Given the description of an element on the screen output the (x, y) to click on. 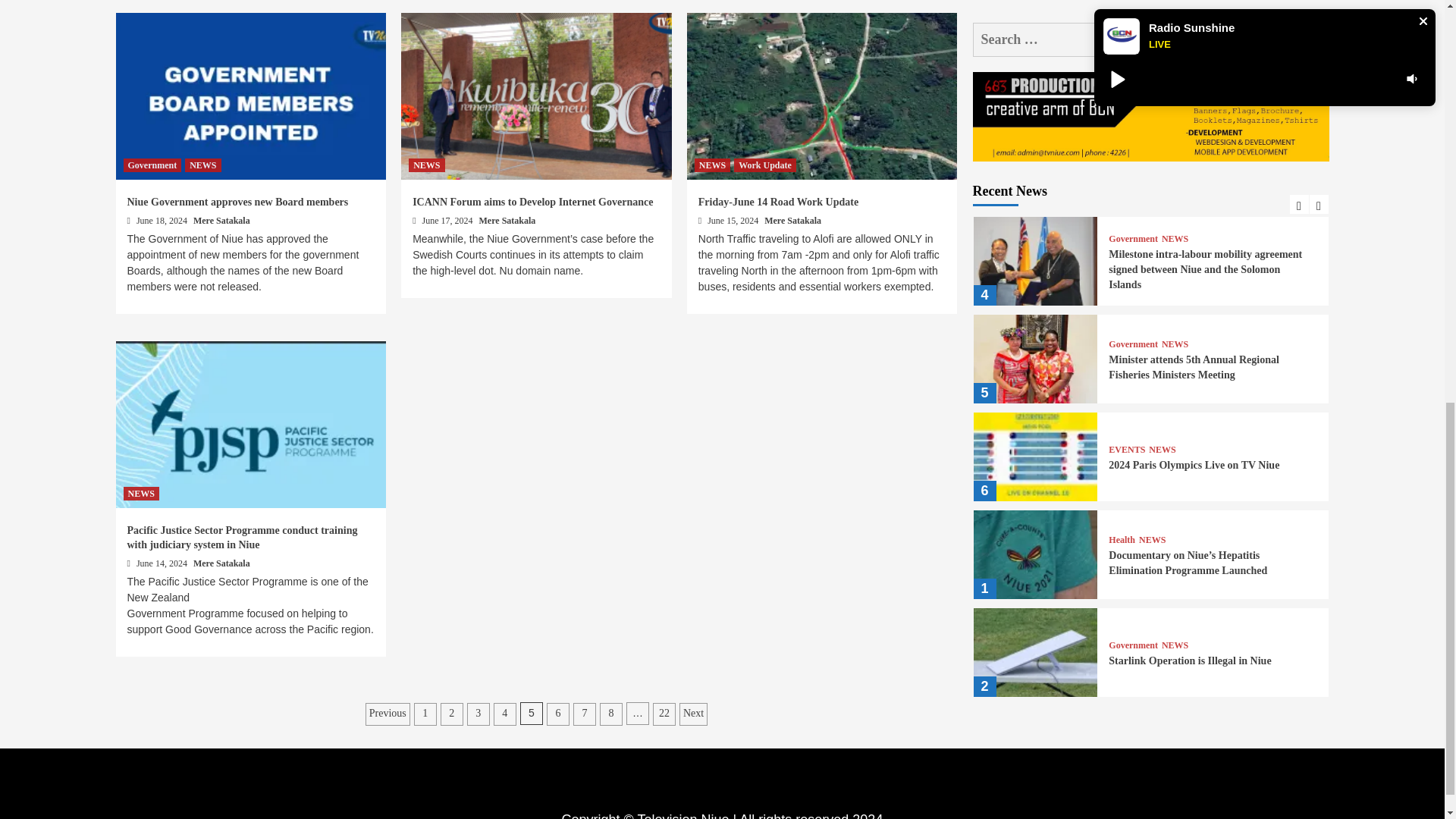
Government (151, 164)
